Given the description of an element on the screen output the (x, y) to click on. 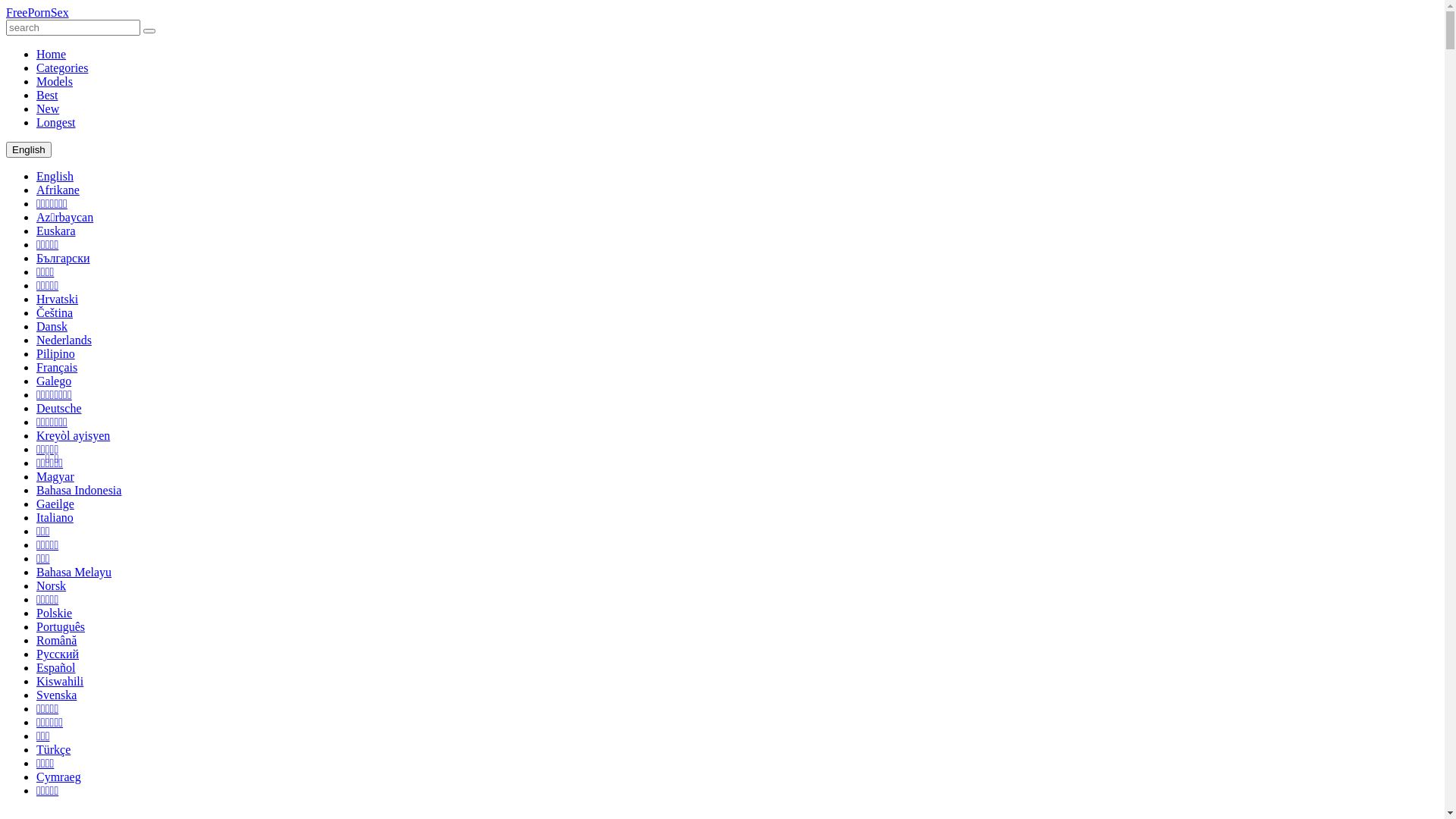
Kiswahili Element type: text (59, 680)
Italiano Element type: text (54, 517)
Bahasa Melayu Element type: text (73, 571)
Best Element type: text (46, 94)
Deutsche Element type: text (58, 407)
Galego Element type: text (53, 380)
Polskie Element type: text (54, 612)
English Element type: text (54, 175)
Longest Element type: text (55, 122)
Models Element type: text (54, 81)
Gaeilge Element type: text (55, 503)
Search Element type: text (149, 30)
Bahasa Indonesia Element type: text (78, 489)
Afrikane Element type: text (57, 189)
Norsk Element type: text (50, 585)
New Element type: text (47, 108)
English Element type: text (28, 149)
FreePornSex Element type: text (37, 12)
Nederlands Element type: text (63, 339)
Pilipino Element type: text (55, 353)
Home Element type: text (50, 53)
Magyar Element type: text (55, 476)
Categories Element type: text (61, 67)
Cymraeg Element type: text (58, 776)
Dansk Element type: text (51, 326)
Svenska Element type: text (56, 694)
Euskara Element type: text (55, 230)
Hrvatski Element type: text (57, 298)
